Given the description of an element on the screen output the (x, y) to click on. 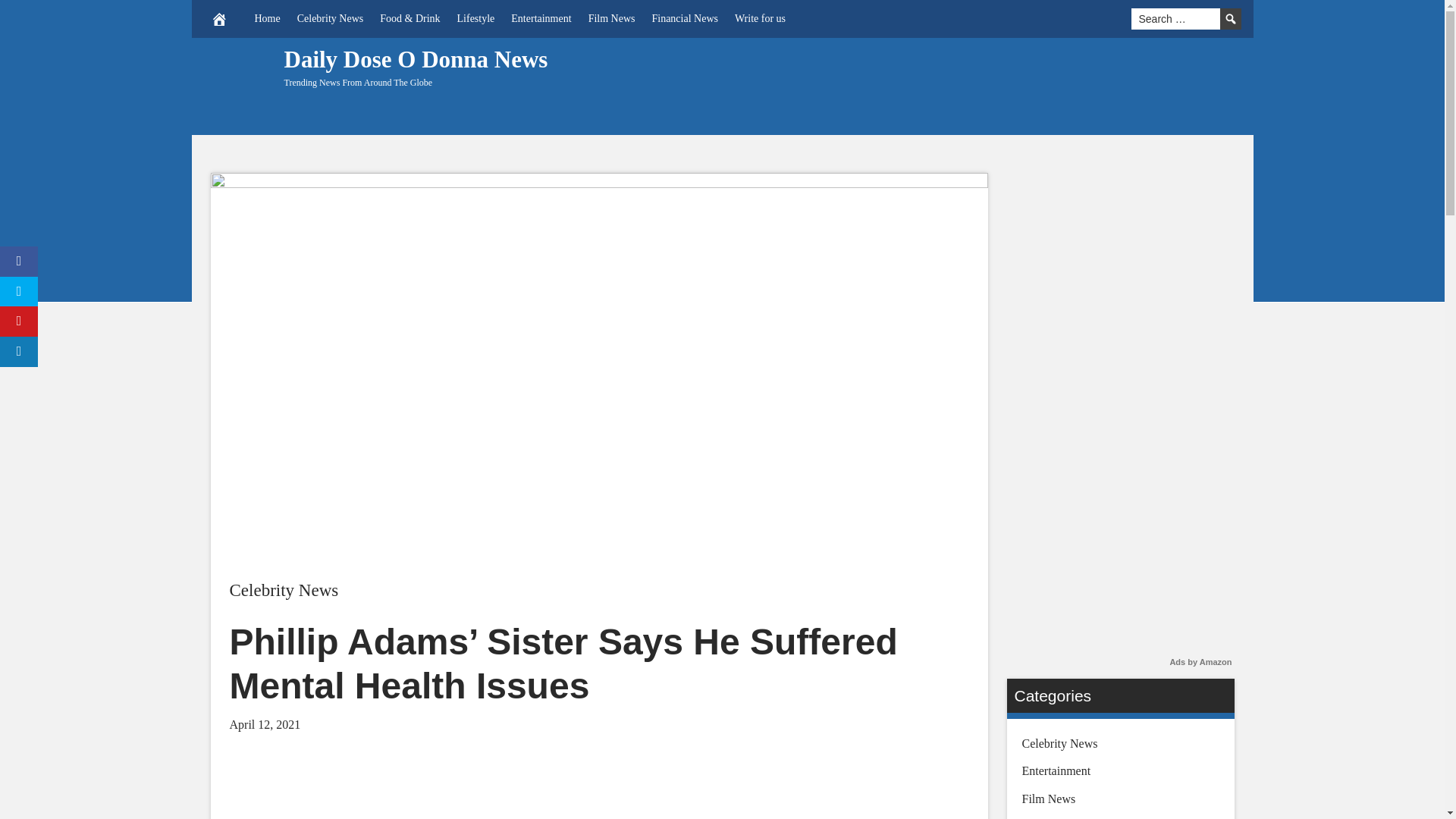
Daily Dose O Donna News (415, 58)
Entertainment (540, 18)
Lifestyle (475, 18)
Celebrity News (329, 18)
Write for us (759, 18)
Celebrity News (282, 589)
Home (267, 18)
Celebrity News (282, 589)
Film News (611, 18)
Financial News (684, 18)
